Given the description of an element on the screen output the (x, y) to click on. 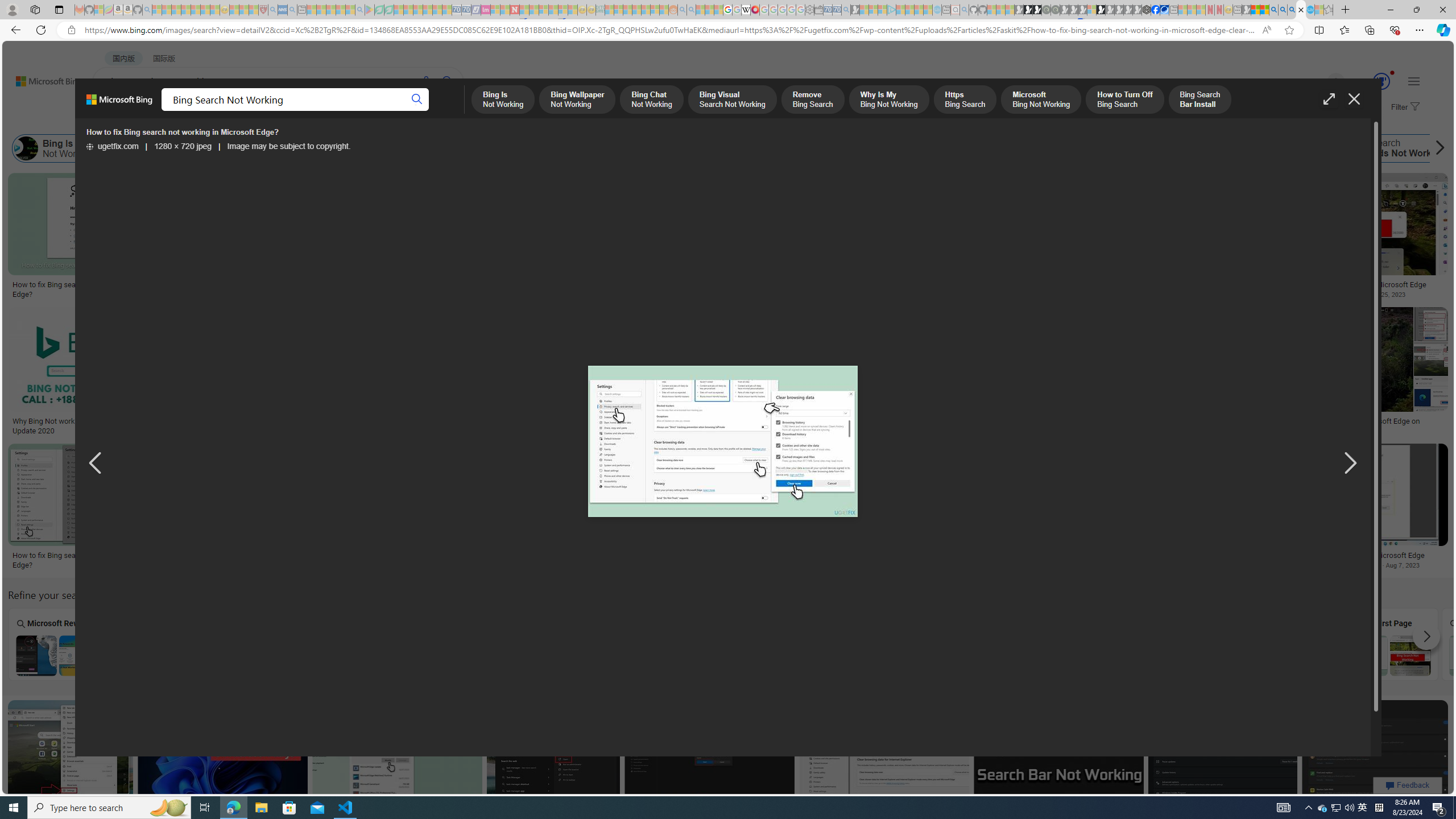
Bing Exact Search Not Working (978, 655)
Next image result (1349, 463)
MSN - Sleeping (1246, 9)
How to Turn Off Bing Search (921, 148)
Bing Search Not Working - Search Images (1300, 9)
Future Focus Report 2024 - Sleeping (1054, 9)
14 Common Myths Debunked By Scientific Facts - Sleeping (533, 9)
Bing Real Estate - Home sales and rental listings - Sleeping (846, 9)
Favorites - Sleeping (1328, 9)
